Given the description of an element on the screen output the (x, y) to click on. 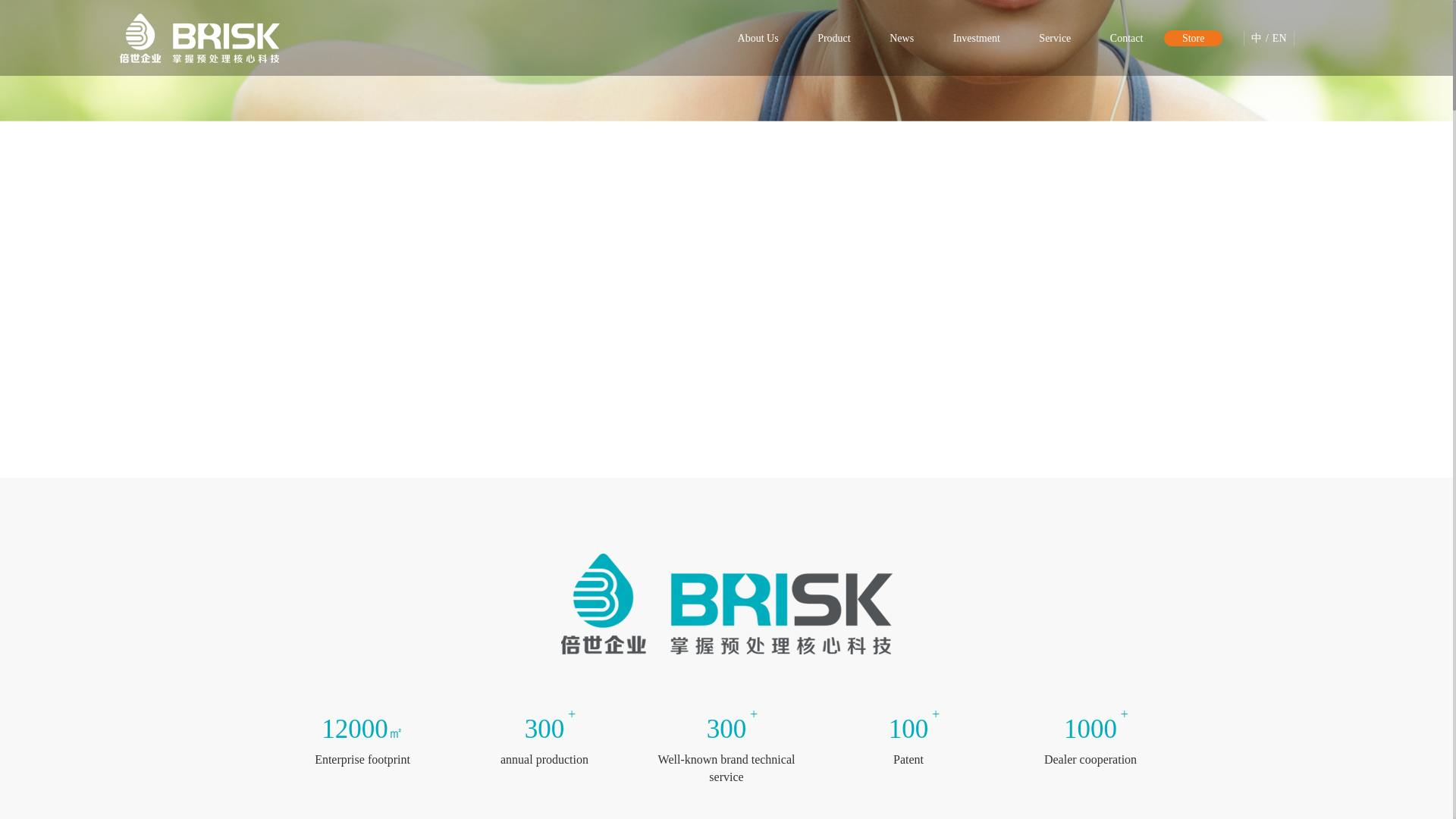
Investment (975, 37)
About Us (757, 37)
Product (834, 37)
News (900, 37)
